Given the description of an element on the screen output the (x, y) to click on. 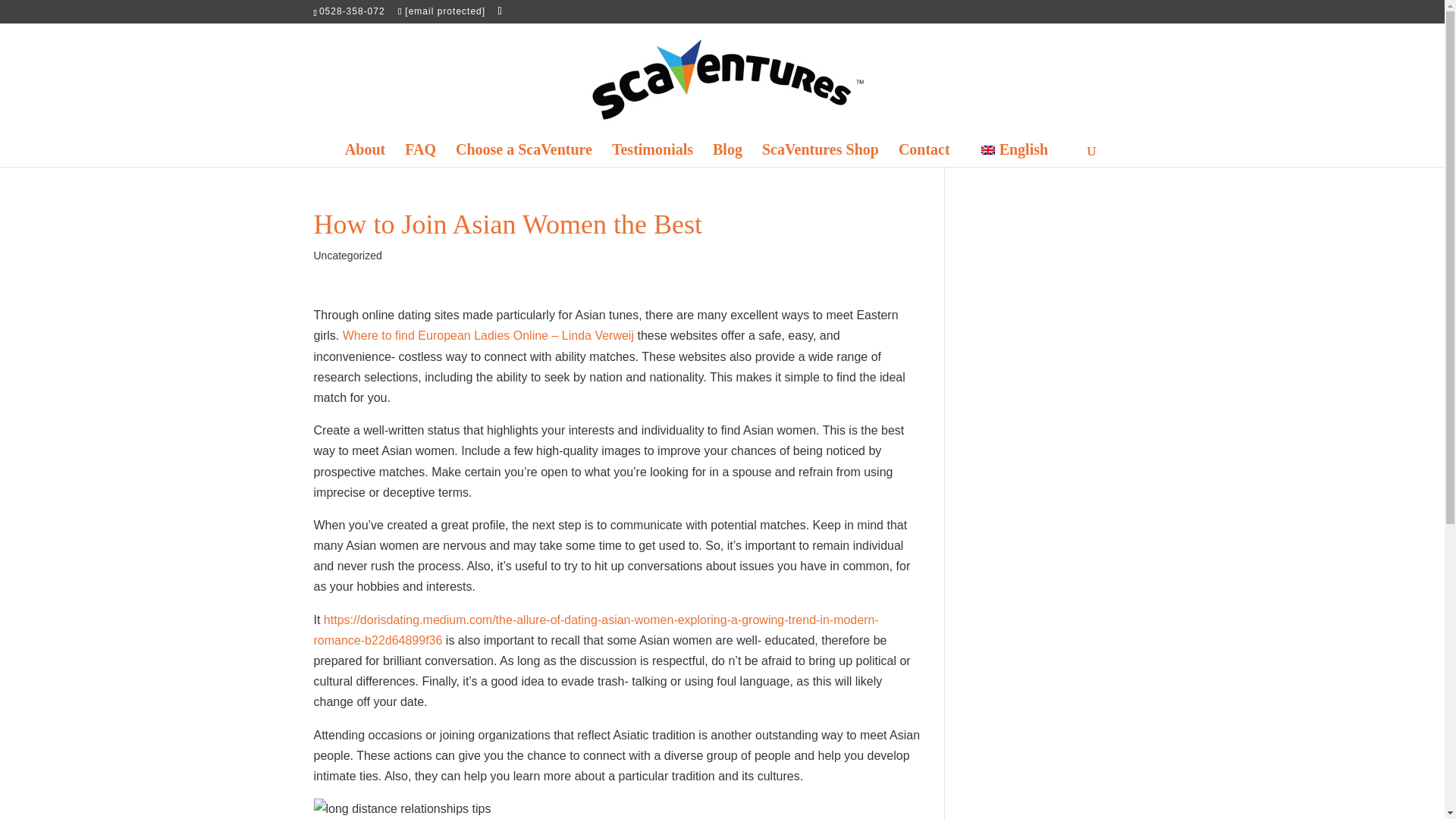
FAQ (419, 159)
Blog (727, 159)
ScaVentures Shop (820, 159)
Choose a ScaVenture (523, 159)
Contact (924, 159)
English (1014, 159)
About (365, 159)
English (1014, 159)
Testimonials (652, 159)
